Given the description of an element on the screen output the (x, y) to click on. 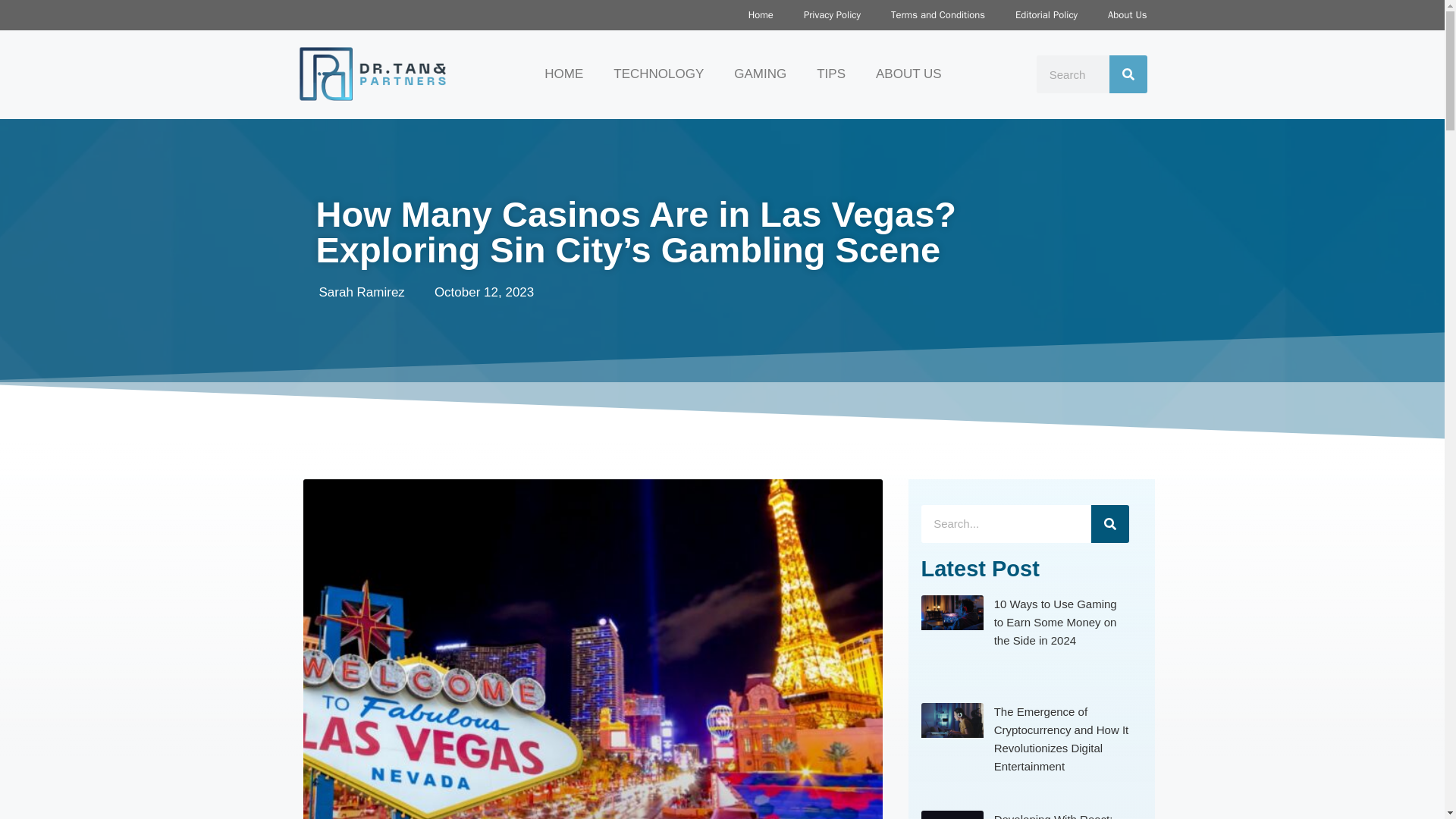
HOME (563, 73)
10 Ways to Use Gaming to Earn Some Money on the Side in 2024 (1055, 622)
GAMING (760, 73)
ABOUT US (908, 73)
Home (761, 15)
Terms and Conditions (938, 15)
Editorial Policy (1046, 15)
TIPS (831, 73)
TECHNOLOGY (658, 73)
About Us (1127, 15)
